Given the description of an element on the screen output the (x, y) to click on. 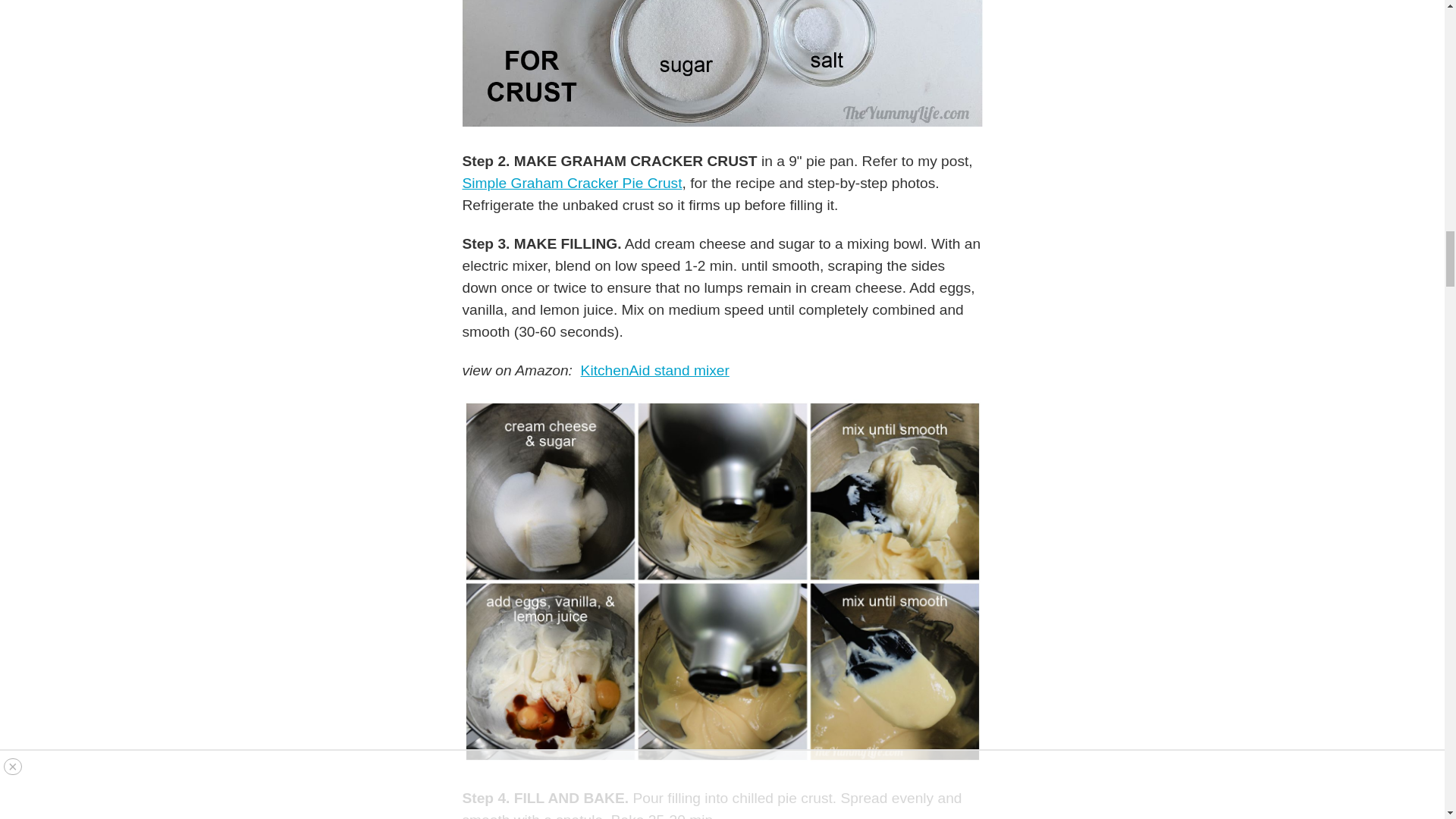
KitchenAid stand mixer (654, 370)
Simple Graham Cracker Pie Crust (572, 182)
